Given the description of an element on the screen output the (x, y) to click on. 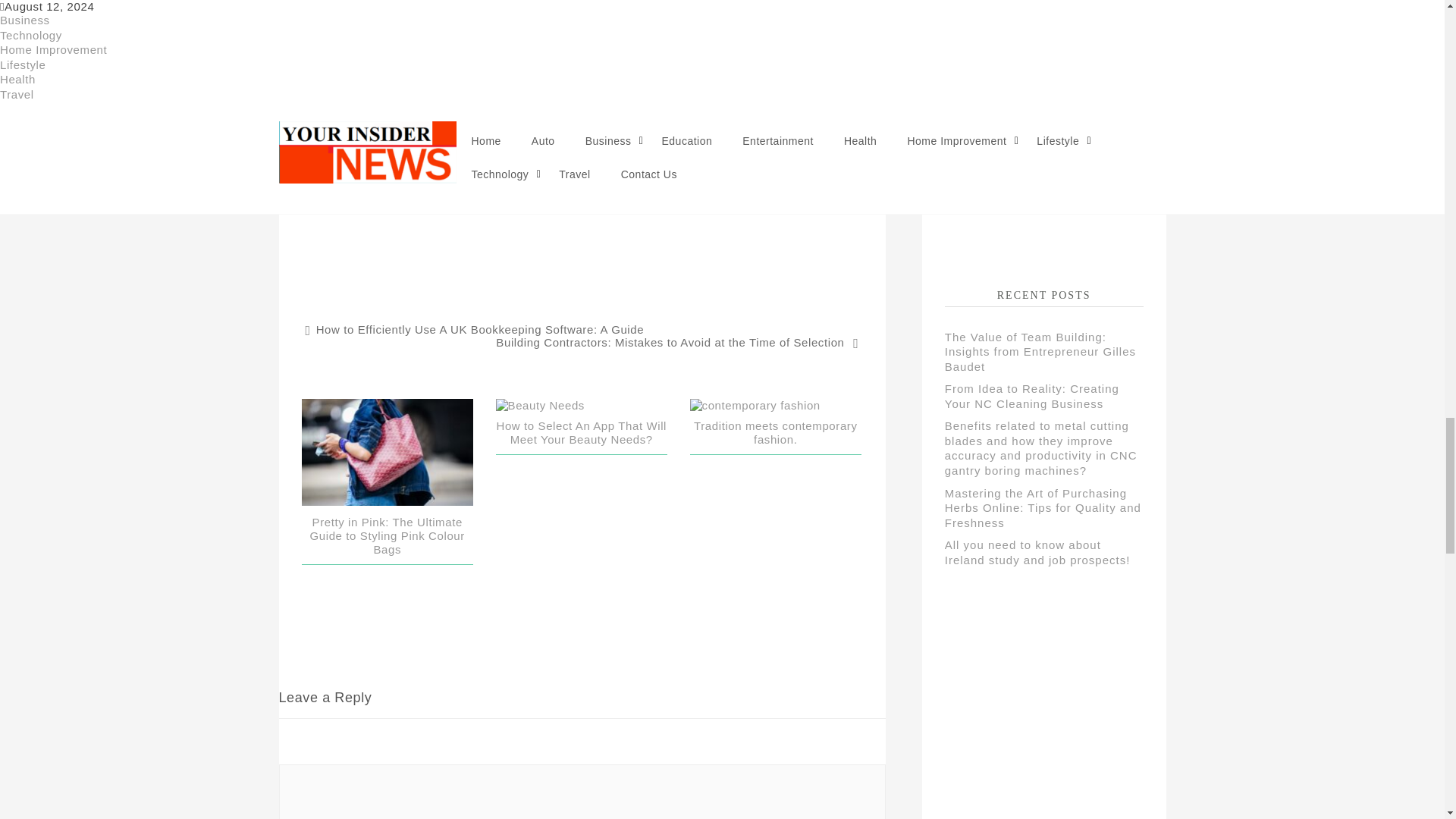
How to Select An App That Will Meet Your Beauty Needs? (581, 432)
How to Efficiently Use A UK Bookkeeping Software: A Guide (474, 329)
